Given the description of an element on the screen output the (x, y) to click on. 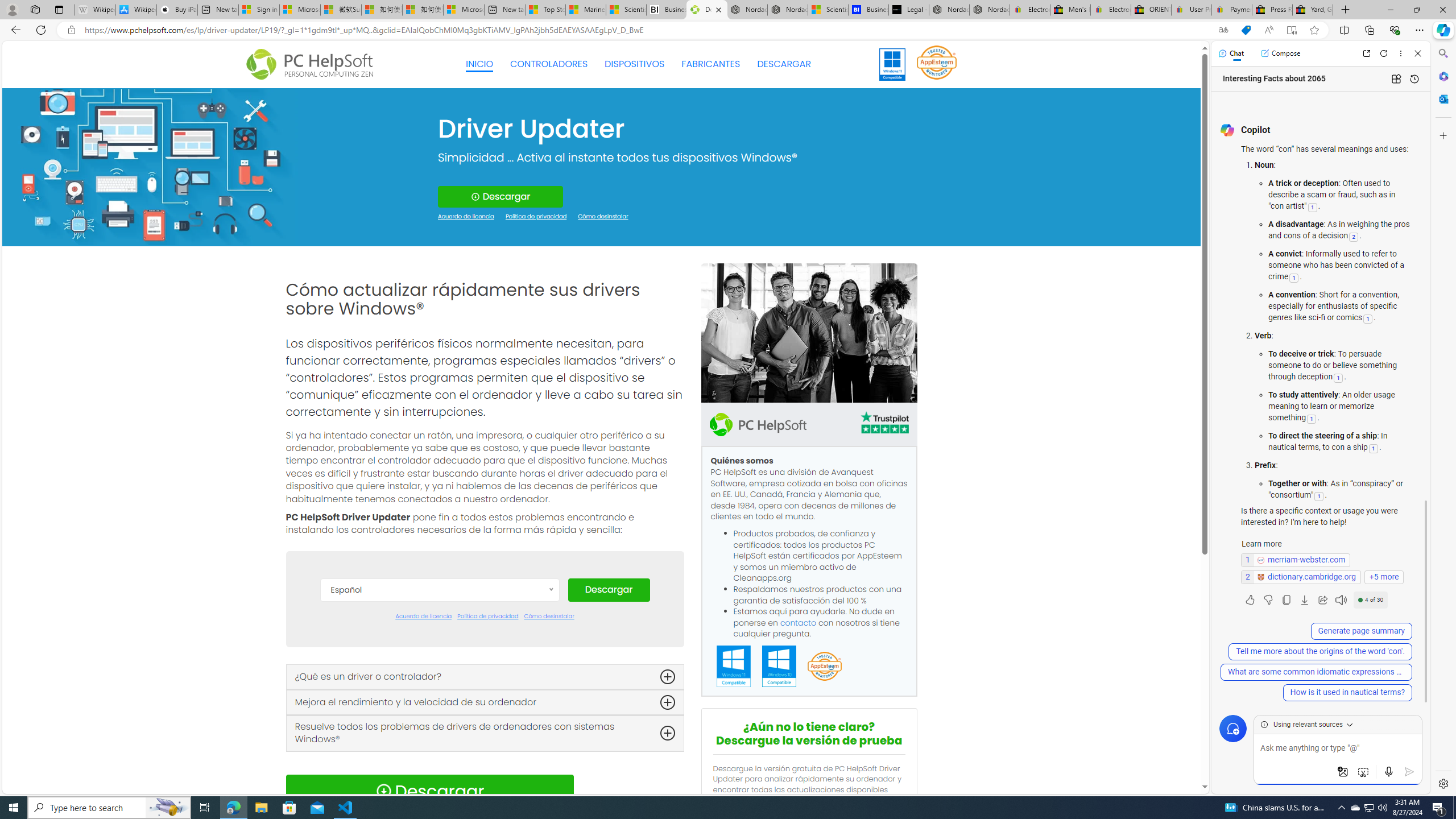
Yard, Garden & Outdoor Living (1312, 9)
Shopping in Microsoft Edge (1245, 29)
Italiano (439, 746)
Nordace - Summer Adventures 2024 (949, 9)
